Given the description of an element on the screen output the (x, y) to click on. 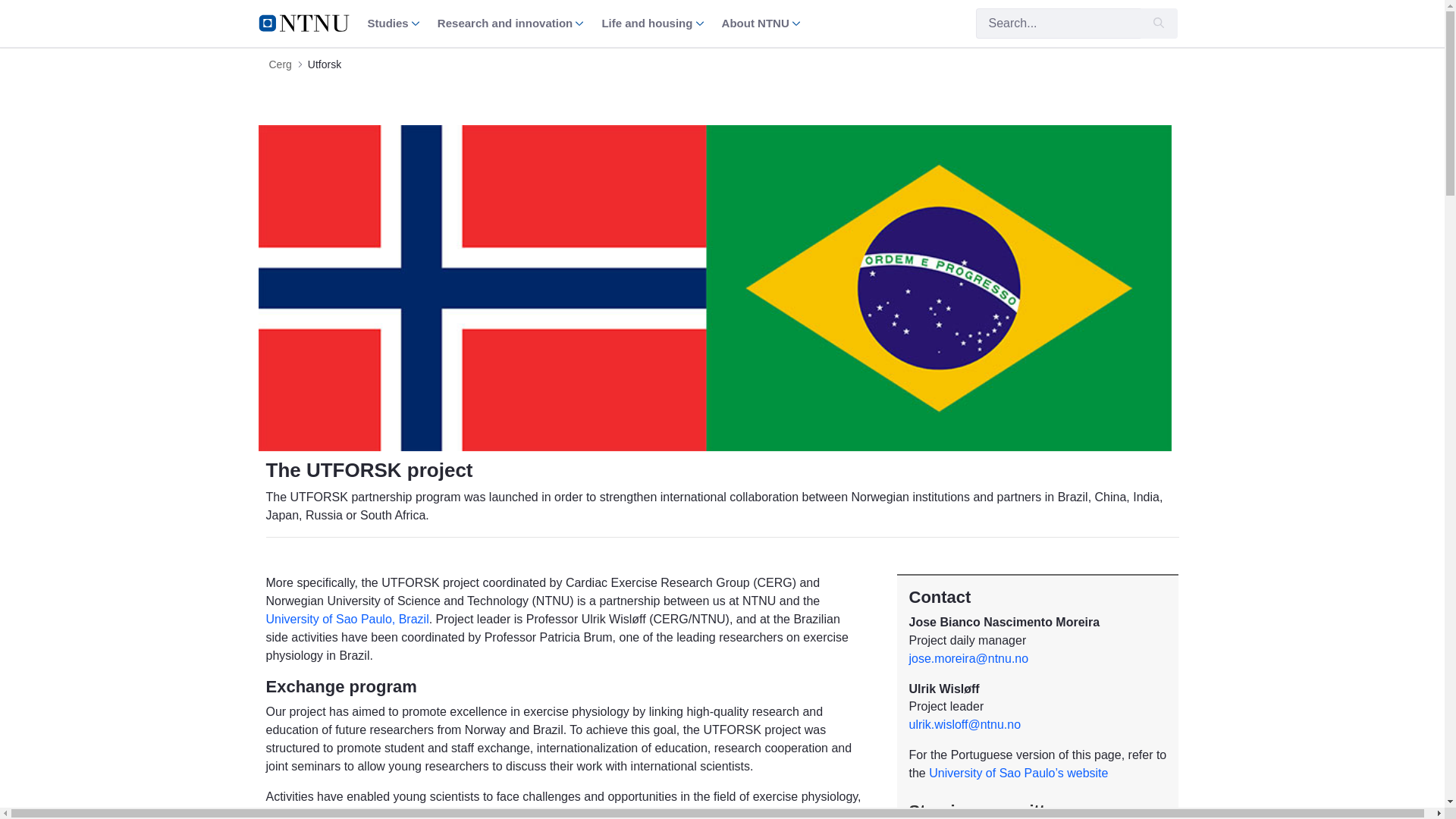
Utforsk (323, 64)
Studies (393, 23)
Cerg (279, 64)
Life and housing (652, 23)
University of Sao Paulo, Brazil (346, 618)
Research and innovation (509, 23)
Search (1057, 23)
About NTNU (761, 23)
Cerg (279, 64)
